Given the description of an element on the screen output the (x, y) to click on. 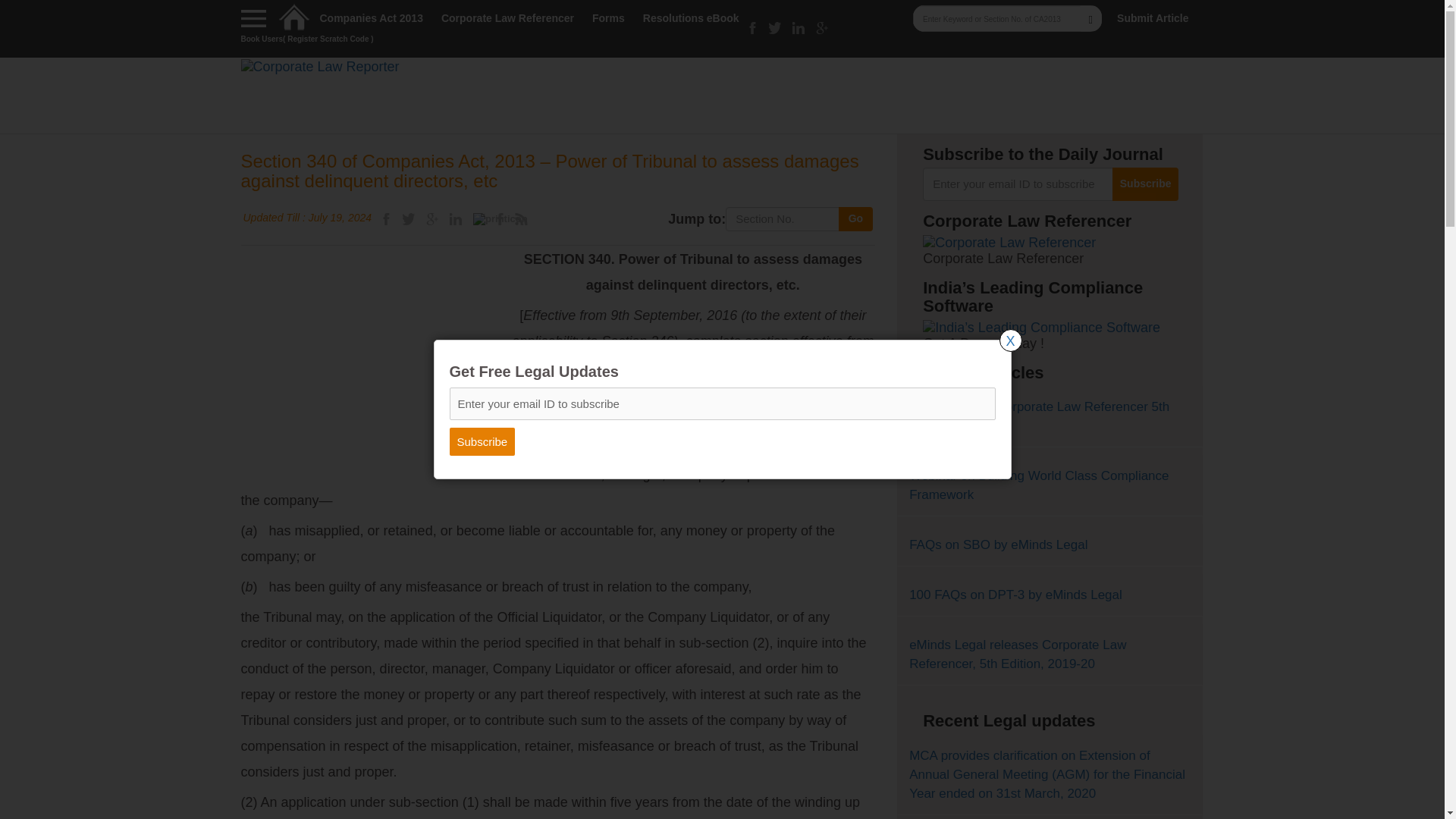
Corporate Law Referencer (1009, 241)
X (1010, 340)
Share on LinkedIn (455, 218)
Companies Act 2013 (371, 18)
Corporate Law Reporter (319, 65)
Subscribe (481, 441)
Corporate Law Referencer (507, 18)
Submit Article (1152, 17)
Share on Google plus (432, 218)
Forms (608, 18)
Subscribe (481, 441)
Go (855, 218)
Print Page (500, 218)
Share on Facebook (384, 218)
Share on Twitter (408, 218)
